Given the description of an element on the screen output the (x, y) to click on. 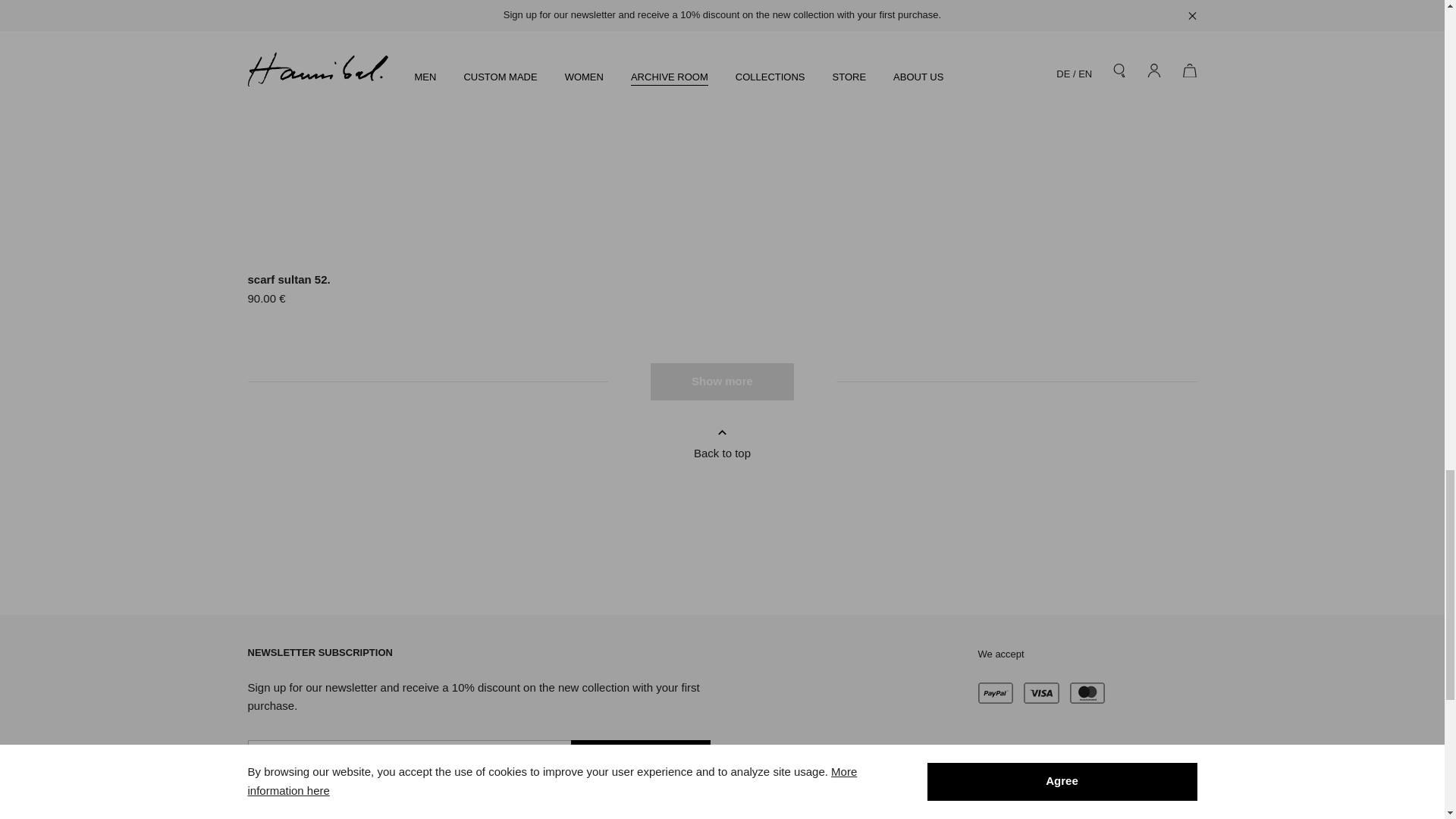
Subscribe (640, 759)
on (253, 807)
